Given the description of an element on the screen output the (x, y) to click on. 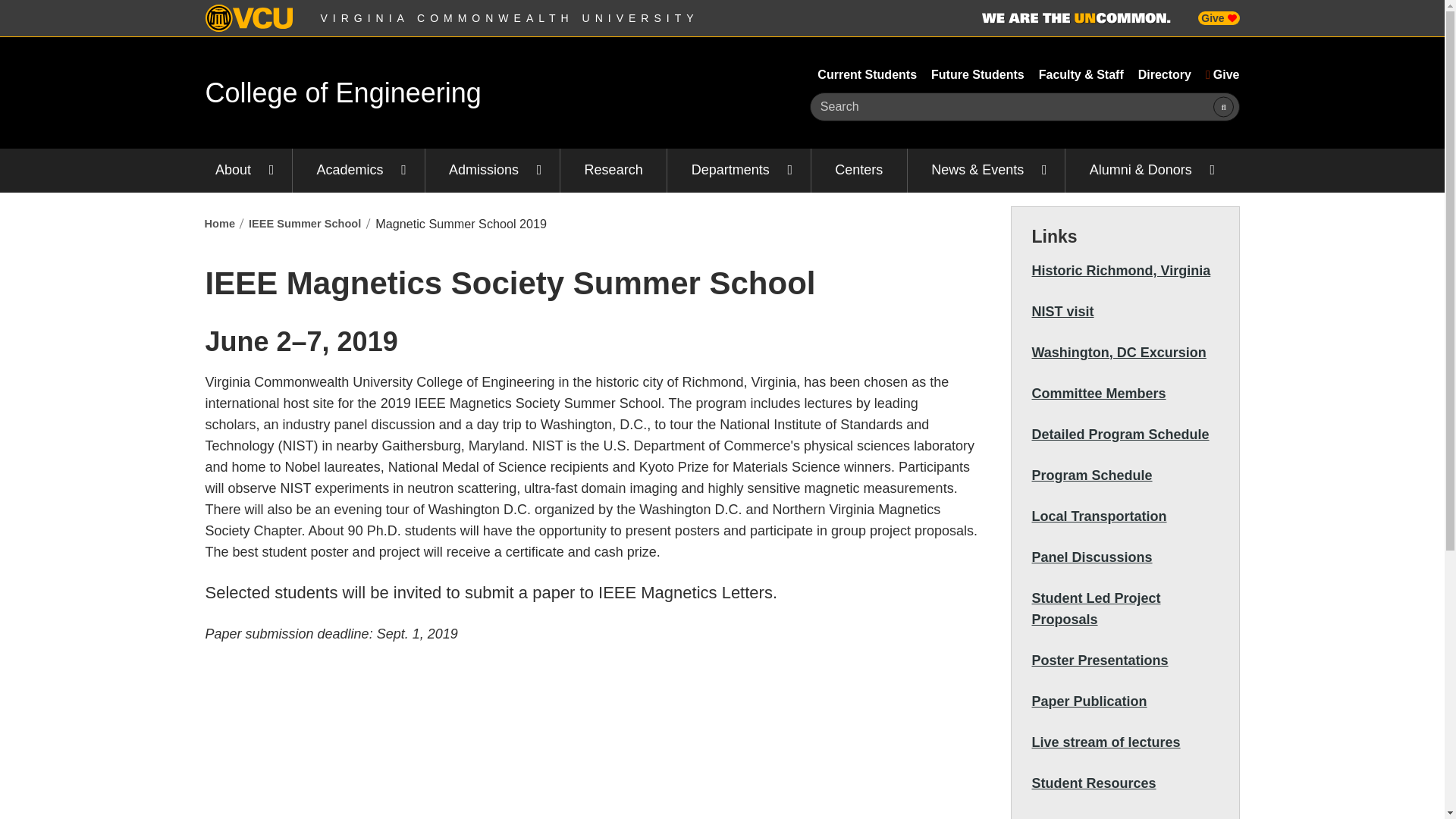
VIRGINIA COMMONWEALTH UNIVERSITY (509, 18)
Current Students (866, 74)
Give (1222, 74)
Engineering (219, 223)
About (241, 170)
College of Engineering (342, 92)
Directory (1164, 74)
Future Students (978, 74)
Give  (1218, 18)
We are the UNCOMMON. (1075, 17)
